Given the description of an element on the screen output the (x, y) to click on. 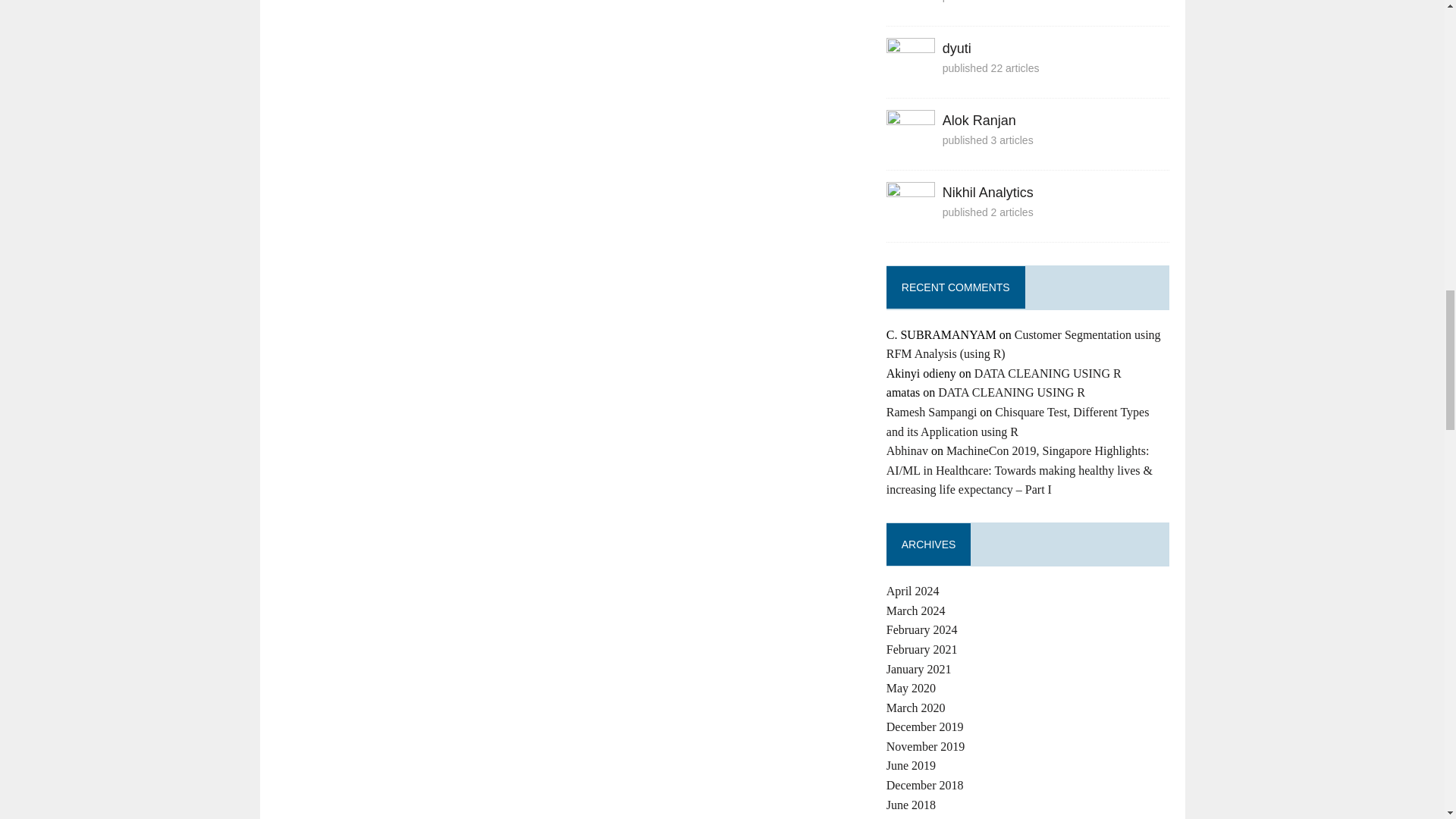
Articles by dyuti (956, 48)
Articles by dyuti (910, 76)
Articles by Megha Sharma (910, 5)
Articles by Alok Ranjan (910, 148)
Articles by Alok Ranjan (979, 120)
